Given the description of an element on the screen output the (x, y) to click on. 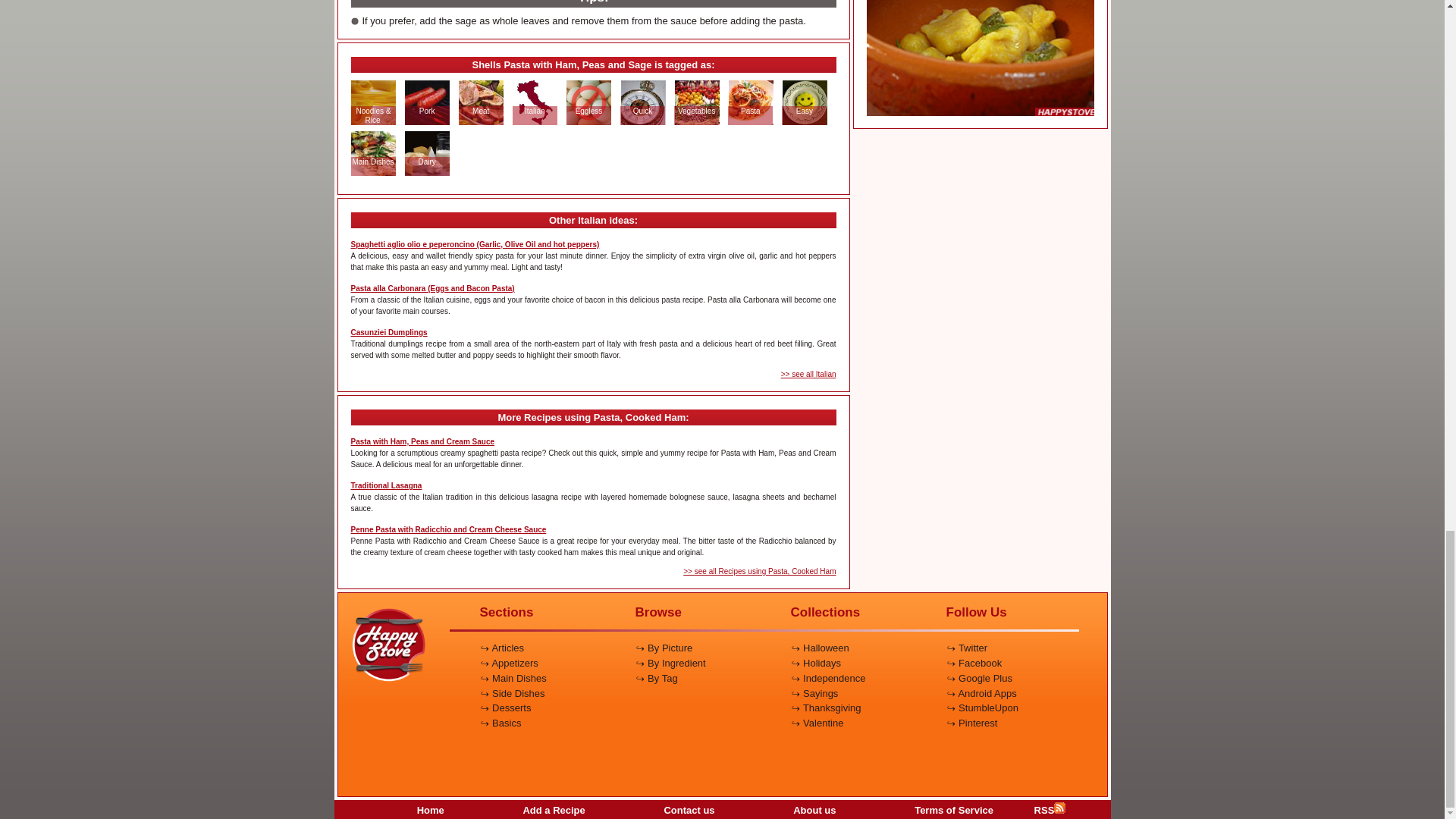
Vegetables (696, 111)
Main Dishes (372, 162)
Pasta (750, 111)
Eggless (589, 111)
Easy (803, 111)
Pork (427, 111)
Italian (535, 111)
Quick (642, 111)
Meat (480, 111)
